Given the description of an element on the screen output the (x, y) to click on. 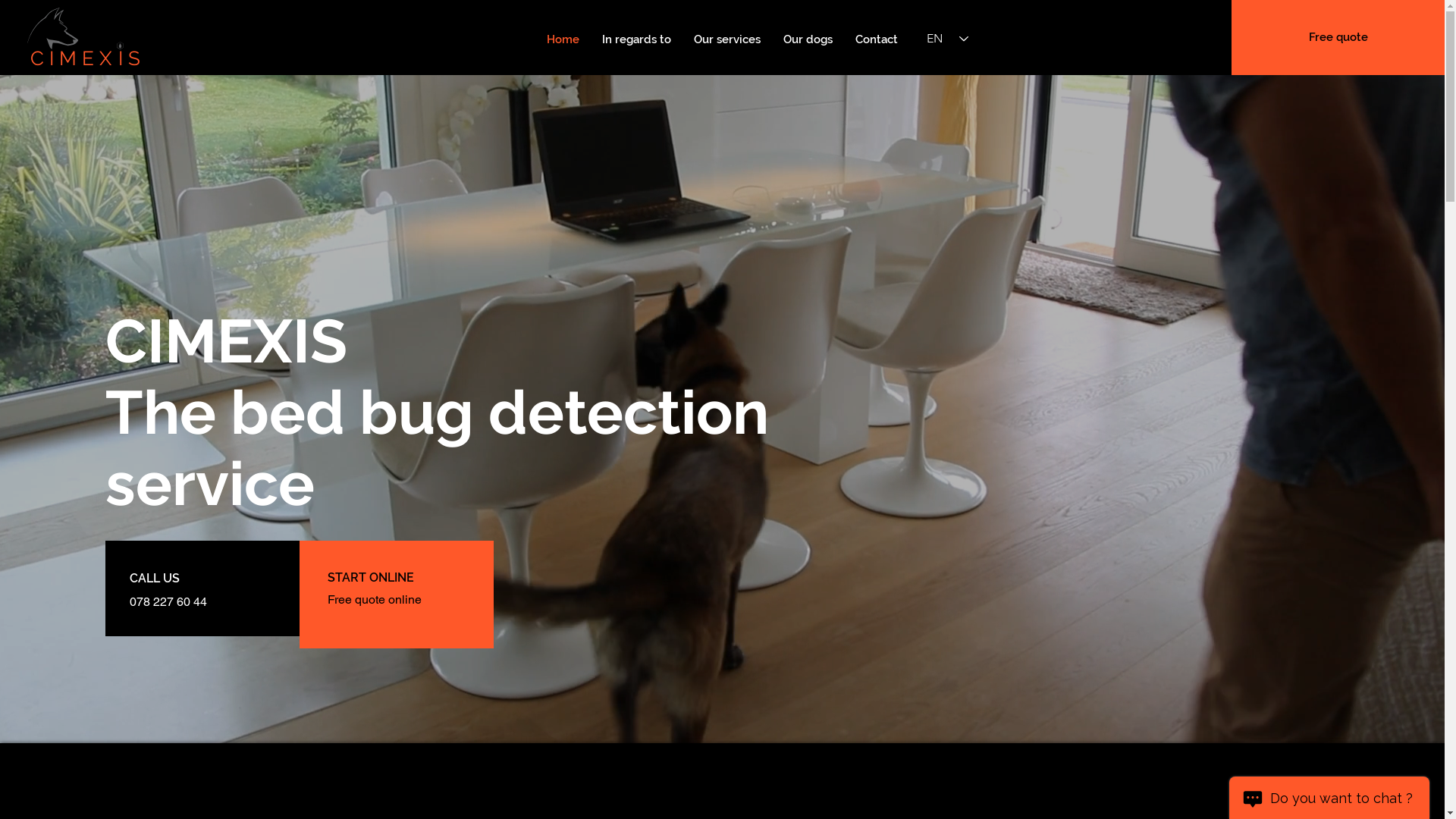
Home Element type: text (562, 39)
Our dogs Element type: text (807, 39)
In regards to Element type: text (636, 39)
Free quote Element type: text (1337, 37)
START ONLINE Element type: text (370, 577)
Free quote online Element type: text (374, 599)
Contact Element type: text (876, 39)
Our services Element type: text (726, 39)
C I M E X I S Element type: text (83, 38)
